Given the description of an element on the screen output the (x, y) to click on. 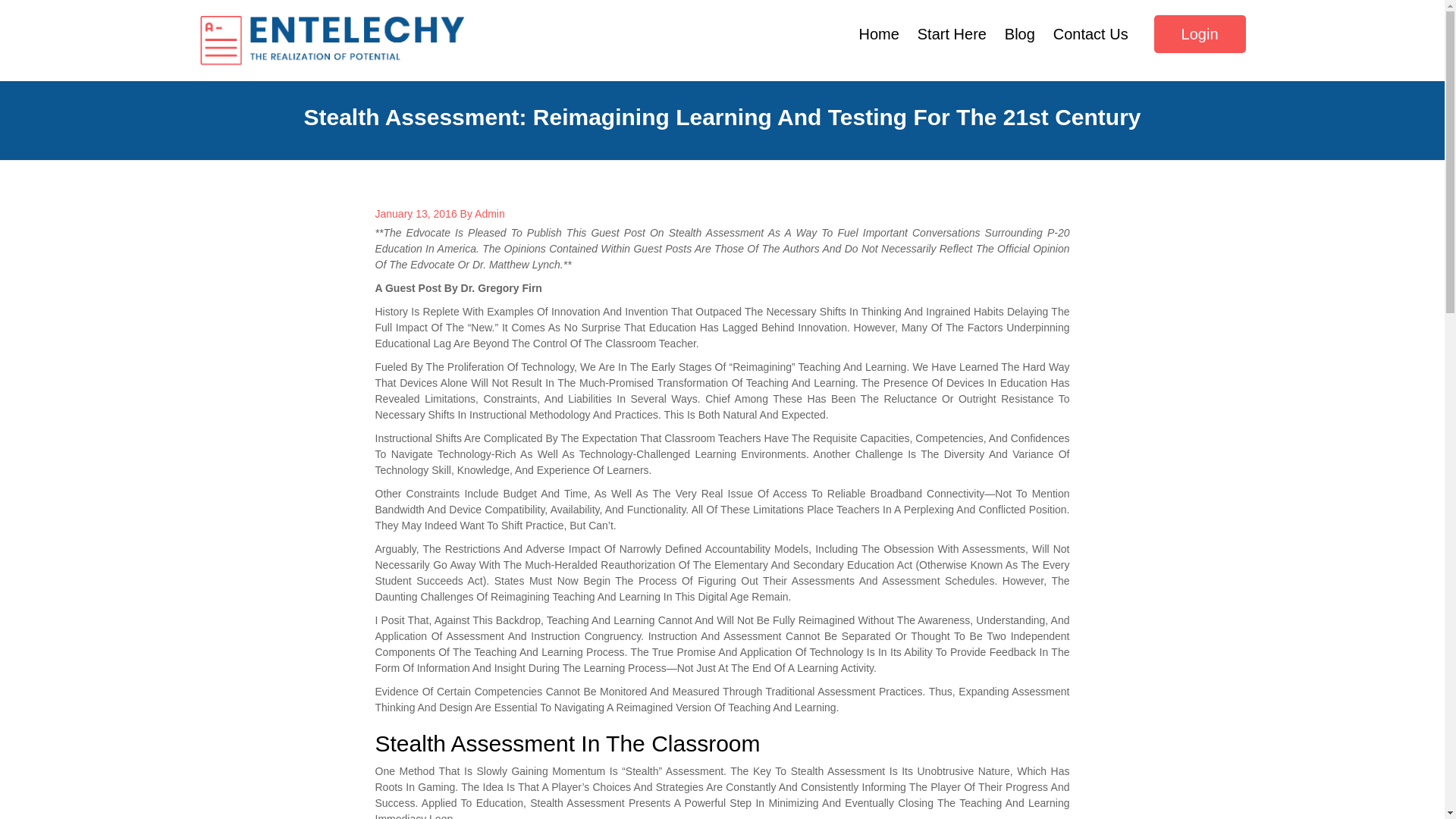
Blog (1019, 34)
Admin (489, 214)
January 13, 2016 (415, 214)
Login (1200, 34)
Home (879, 34)
Contact Us (1090, 34)
Start Here (952, 34)
